Given the description of an element on the screen output the (x, y) to click on. 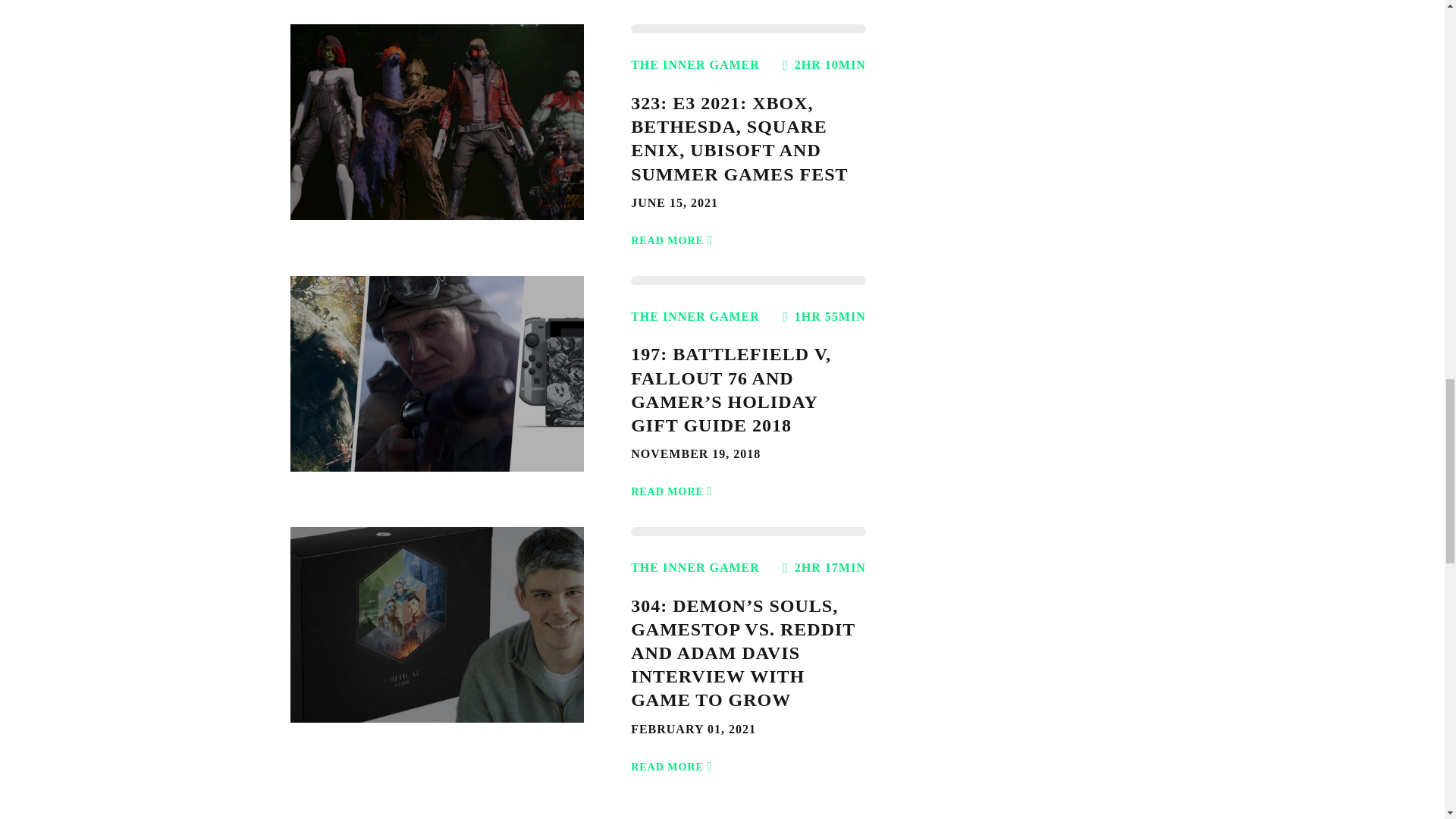
READ MORE (673, 482)
READ MORE (673, 757)
READ MORE (673, 231)
